Given the description of an element on the screen output the (x, y) to click on. 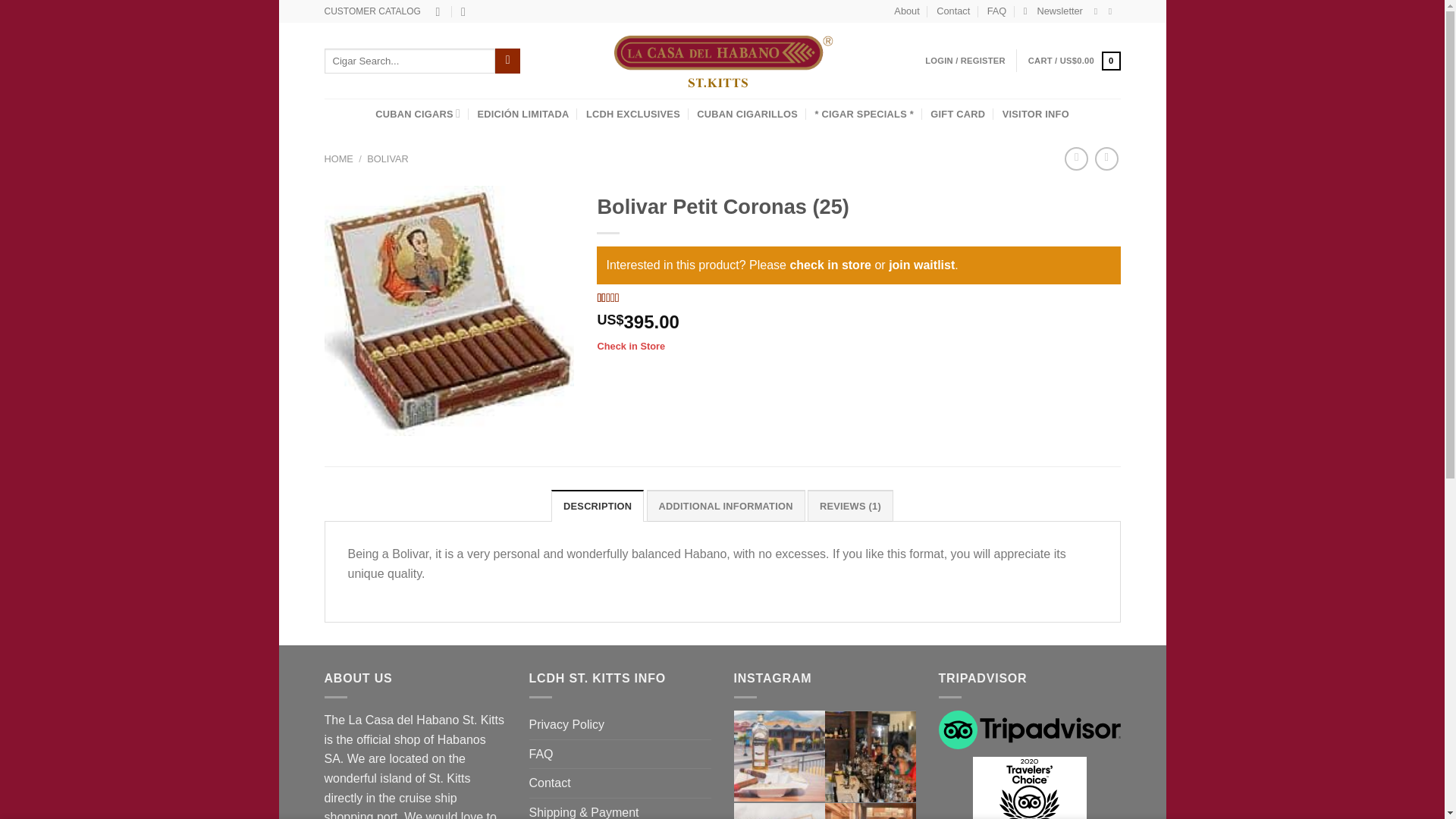
La Casa del Habano St. Kitts - LCDH Duty Free Cigar Shop (721, 60)
Search (507, 61)
CUBAN CIGARS (417, 112)
